Given the description of an element on the screen output the (x, y) to click on. 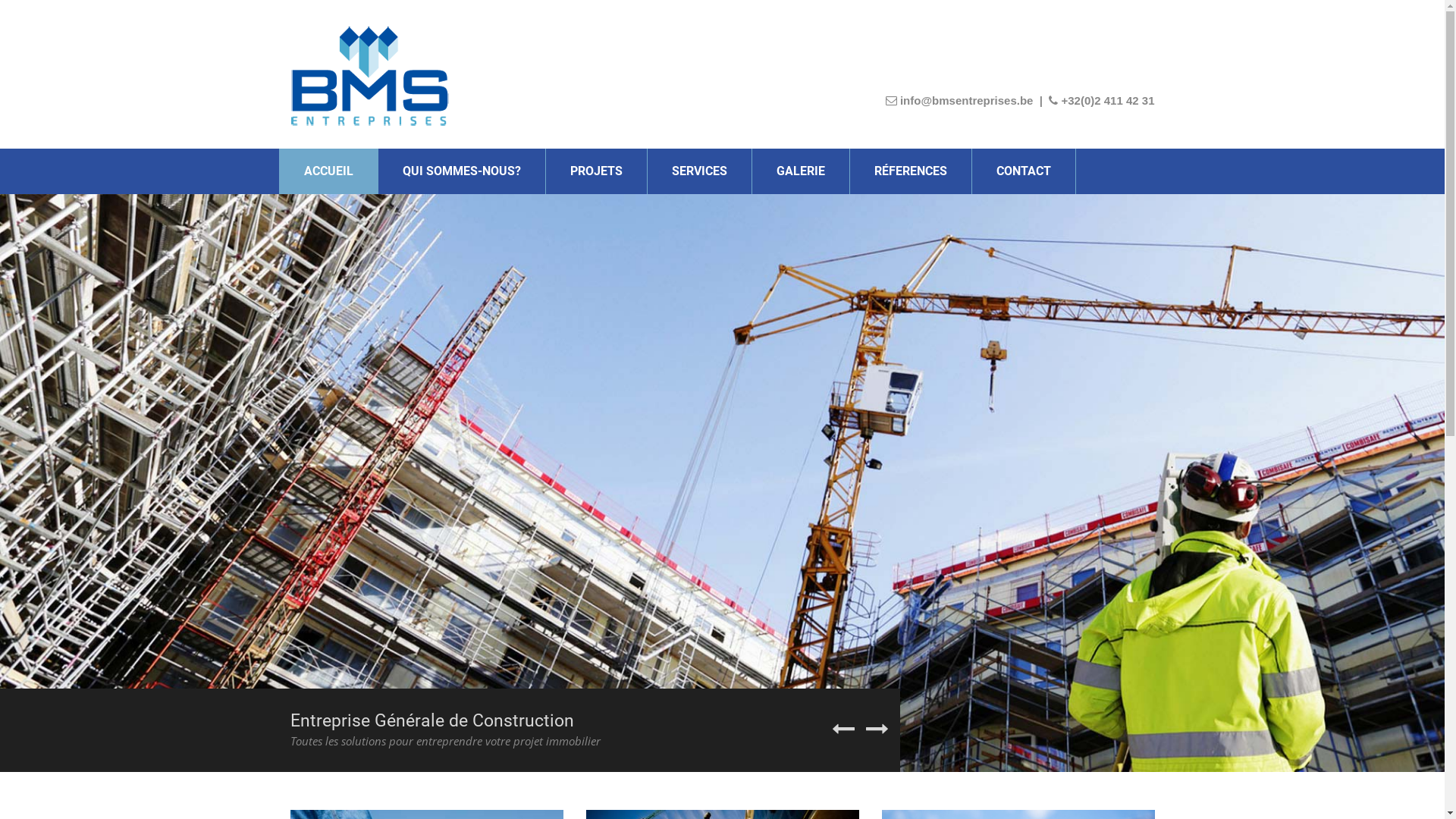
PROJETS Element type: text (596, 171)
CONTACT Element type: text (1023, 171)
QUI SOMMES-NOUS? Element type: text (460, 171)
ACCUEIL Element type: text (327, 171)
GALERIE Element type: text (800, 171)
SERVICES Element type: text (699, 171)
